Given the description of an element on the screen output the (x, y) to click on. 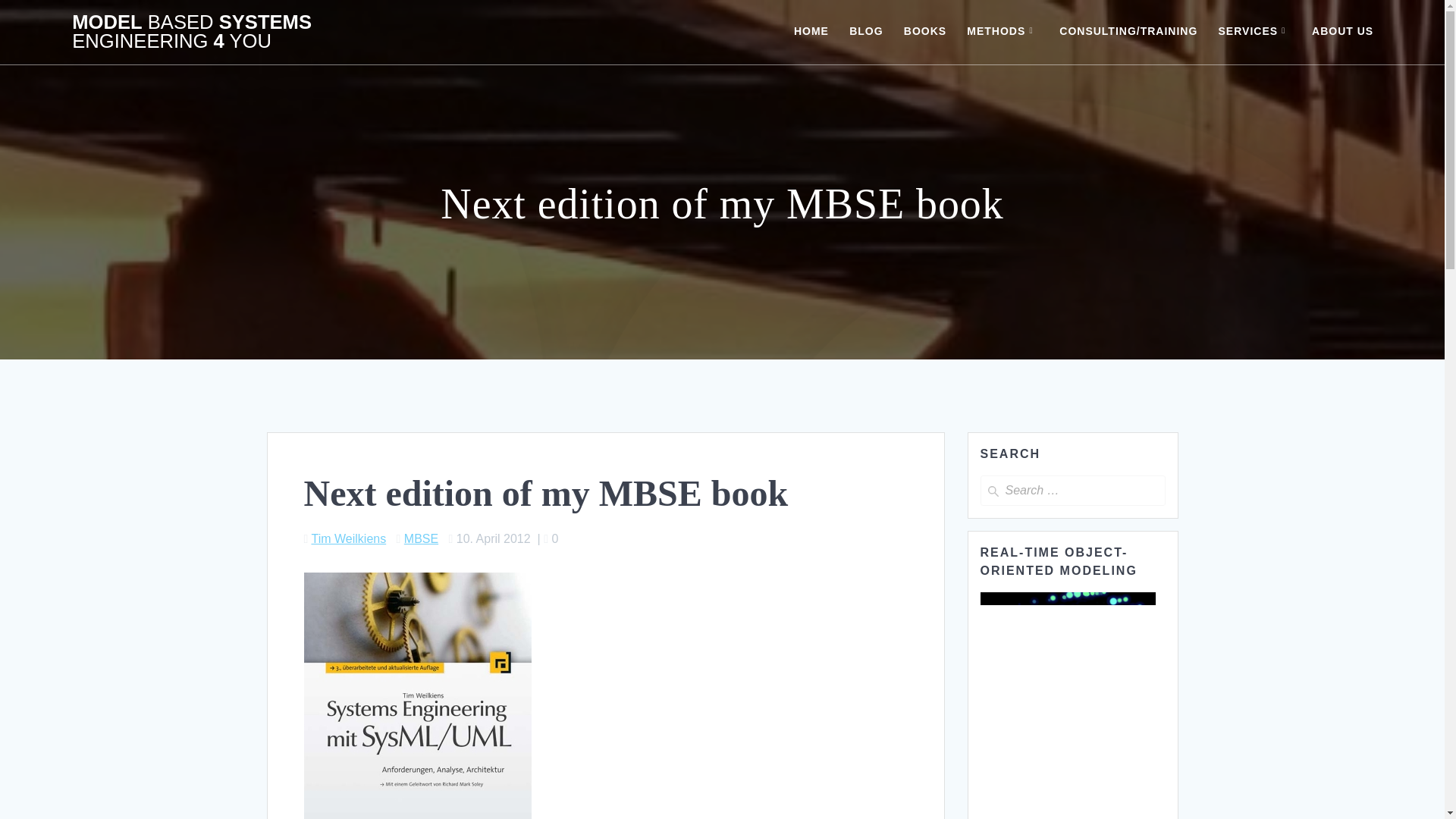
HOME (810, 31)
MODEL BASED SYSTEMS ENGINEERING 4 YOU (258, 32)
Posts by Tim Weilkiens (348, 538)
METHODS (1002, 31)
ABOUT US (1342, 31)
Tim Weilkiens (348, 538)
BOOKS (925, 31)
MBSE (421, 538)
SERVICES (1254, 31)
BLOG (865, 31)
